Given the description of an element on the screen output the (x, y) to click on. 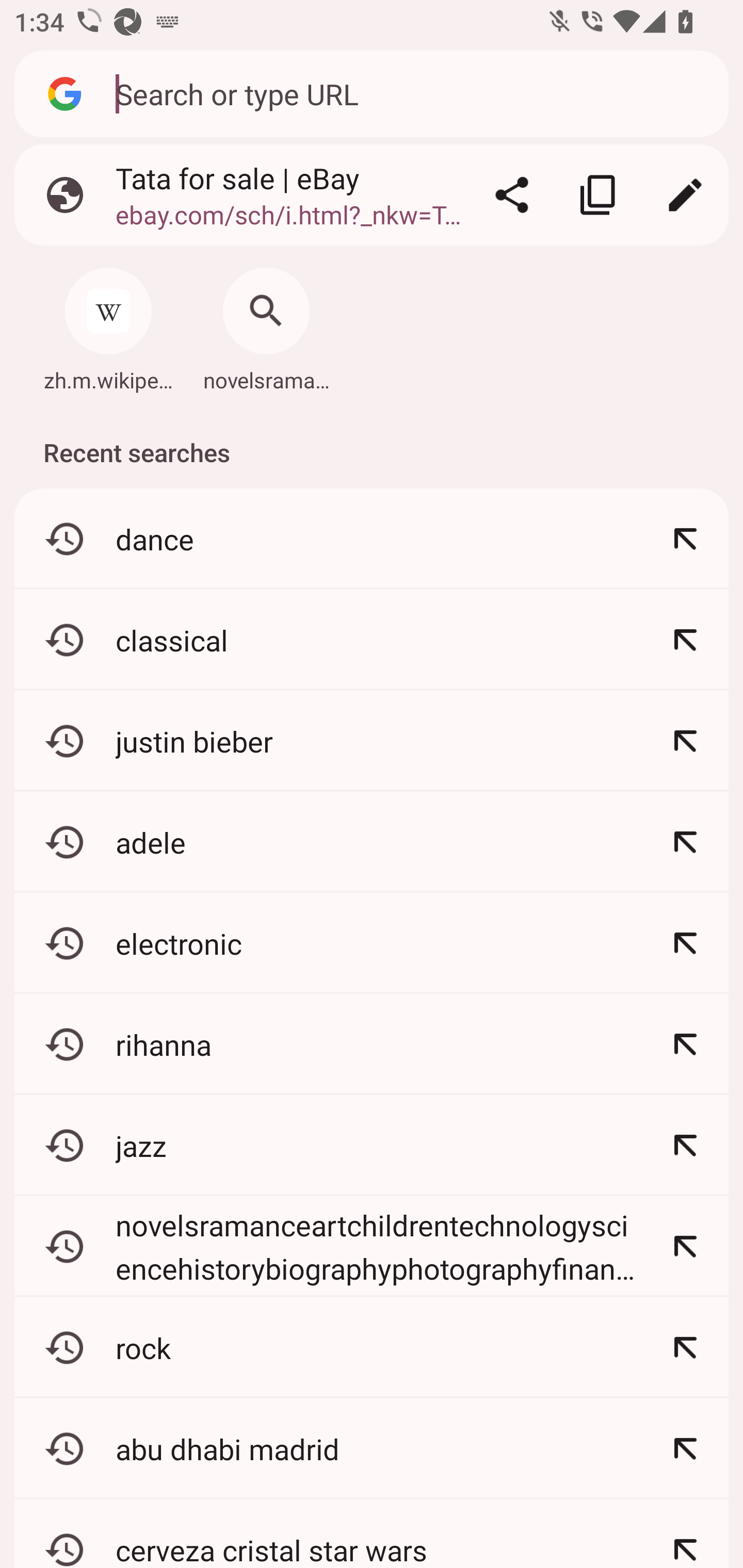
Search or type URL (410, 92)
Share… (511, 195)
Copy link (598, 195)
Edit (684, 195)
dance Refine: dance (371, 539)
Refine: dance (684, 539)
classical Refine: classical (371, 639)
Refine: classical (684, 639)
justin bieber Refine: justin bieber (371, 740)
Refine: justin bieber (684, 740)
adele Refine: adele (371, 841)
Refine: adele (684, 841)
electronic Refine: electronic (371, 943)
Refine: electronic (684, 943)
rihanna Refine: rihanna (371, 1044)
Refine: rihanna (684, 1044)
jazz Refine: jazz (371, 1145)
Refine: jazz (684, 1145)
rock Refine: rock (371, 1347)
Refine: rock (684, 1347)
abu dhabi madrid Refine: abu dhabi madrid (371, 1448)
Refine: abu dhabi madrid (684, 1448)
Refine: cerveza cristal star wars (684, 1533)
